Given the description of an element on the screen output the (x, y) to click on. 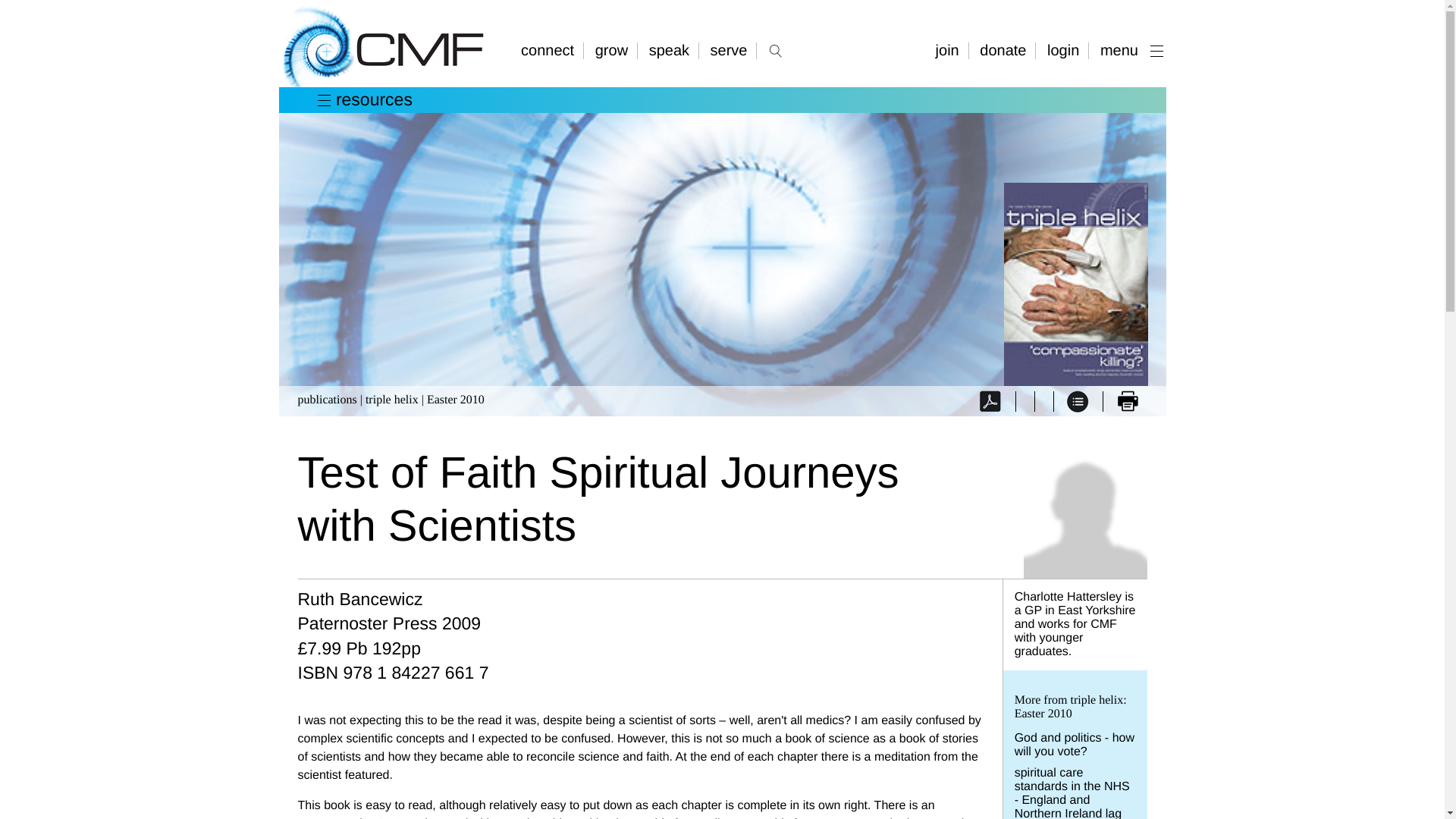
Print Article (1126, 401)
grow (612, 50)
speak (670, 50)
serve (730, 50)
donate (1003, 50)
menu (1128, 50)
Back Issues (1077, 401)
Download PDF Version (992, 401)
login (1065, 50)
connect (552, 50)
